Given the description of an element on the screen output the (x, y) to click on. 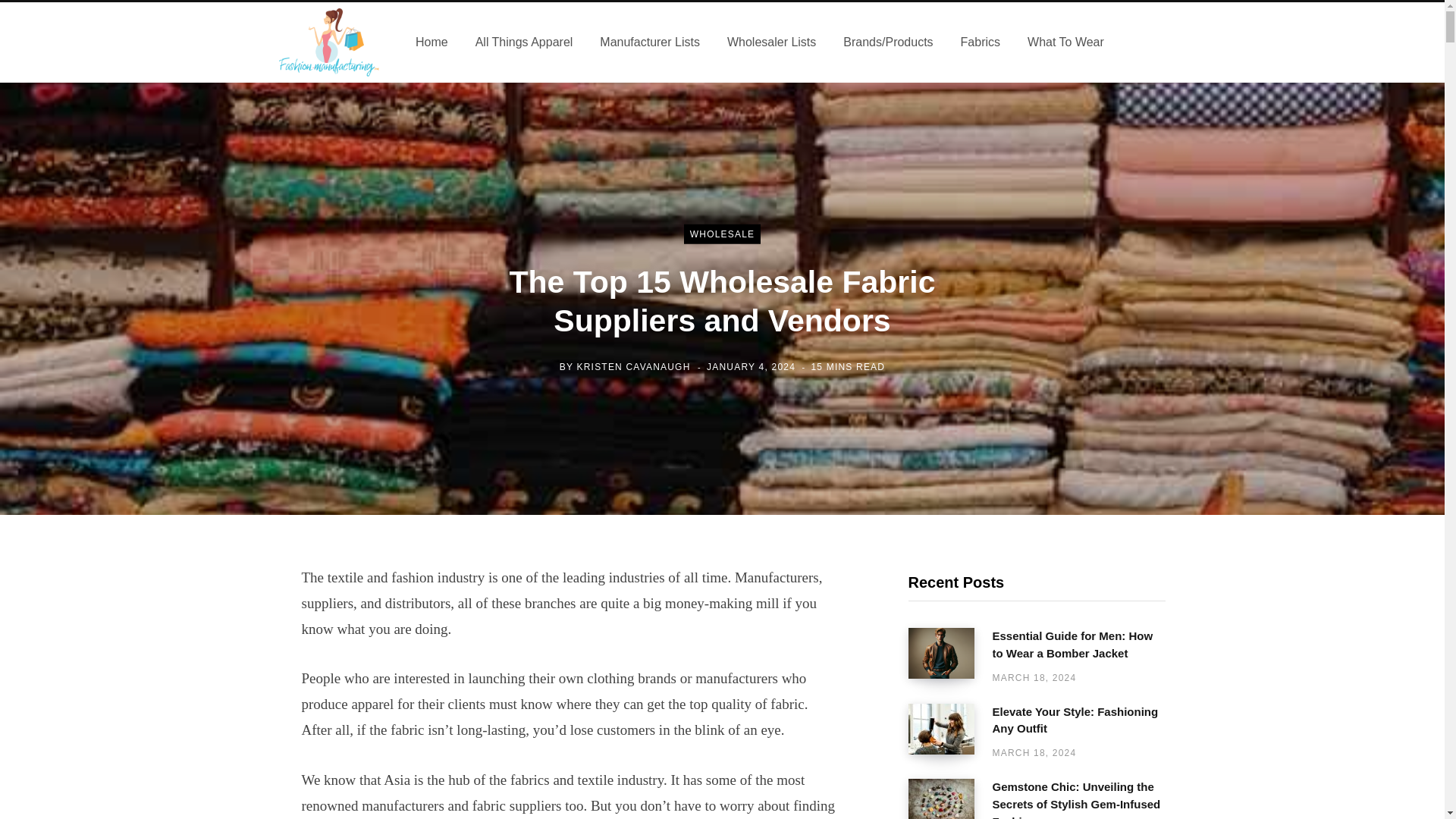
Posts by Kristen Cavanaugh (633, 366)
Fashion Manufacturing (328, 42)
WHOLESALE (722, 234)
Wholesaler Lists (771, 41)
KRISTEN CAVANAUGH (633, 366)
What To Wear (1065, 41)
Manufacturer Lists (649, 41)
All Things Apparel (523, 41)
Fabrics (980, 41)
Home (431, 41)
